Given the description of an element on the screen output the (x, y) to click on. 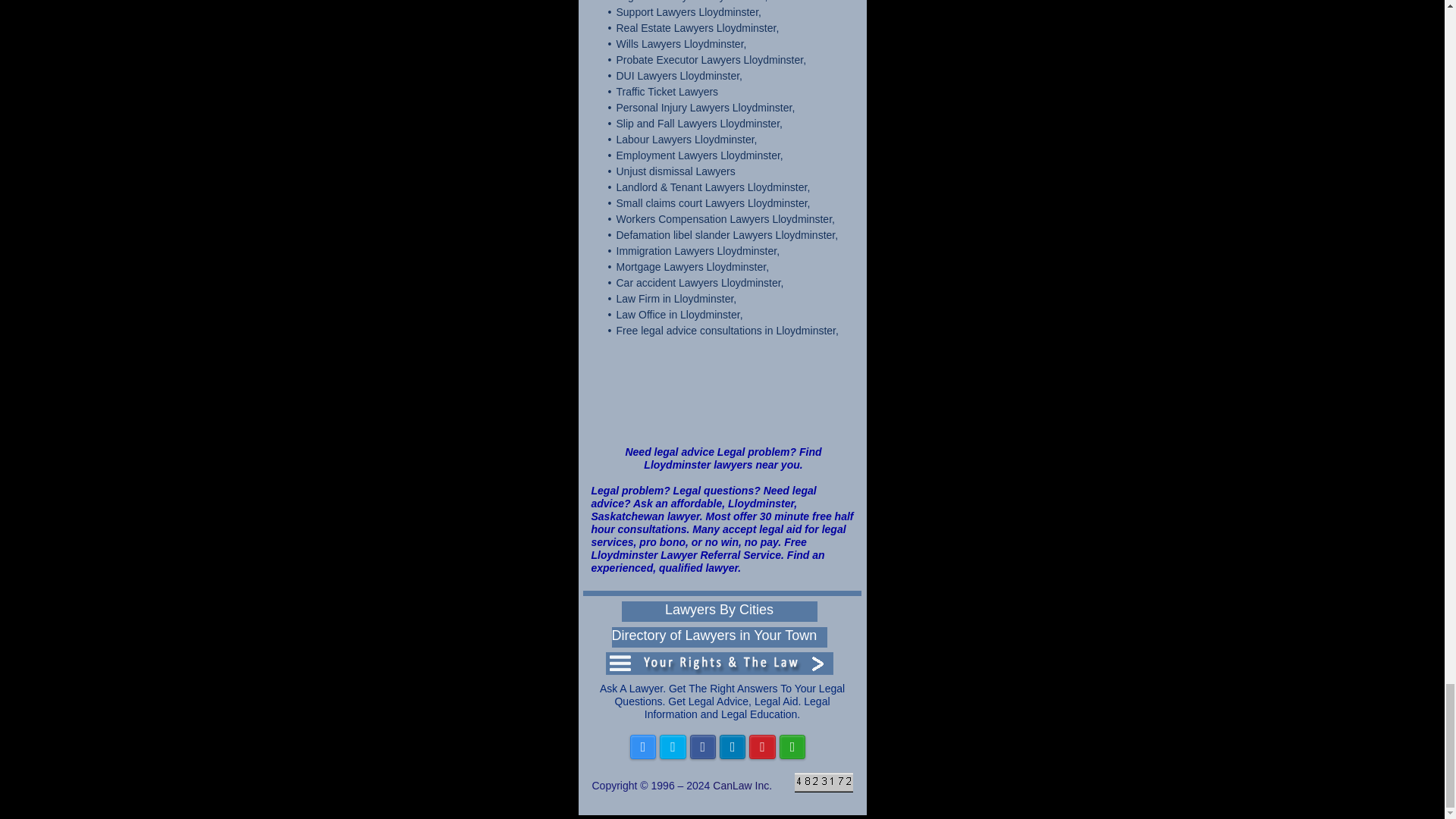
Directory of Lawyers in Your Town (719, 637)
Lists Akk Cities Lawyer Referrals  (718, 611)
Lawyer referrrals to find a lawyer in your town (719, 637)
CanLaw Inc. (742, 785)
Lawyers By Cities (718, 611)
Legal advice legal aid pro bono information (823, 782)
